Given the description of an element on the screen output the (x, y) to click on. 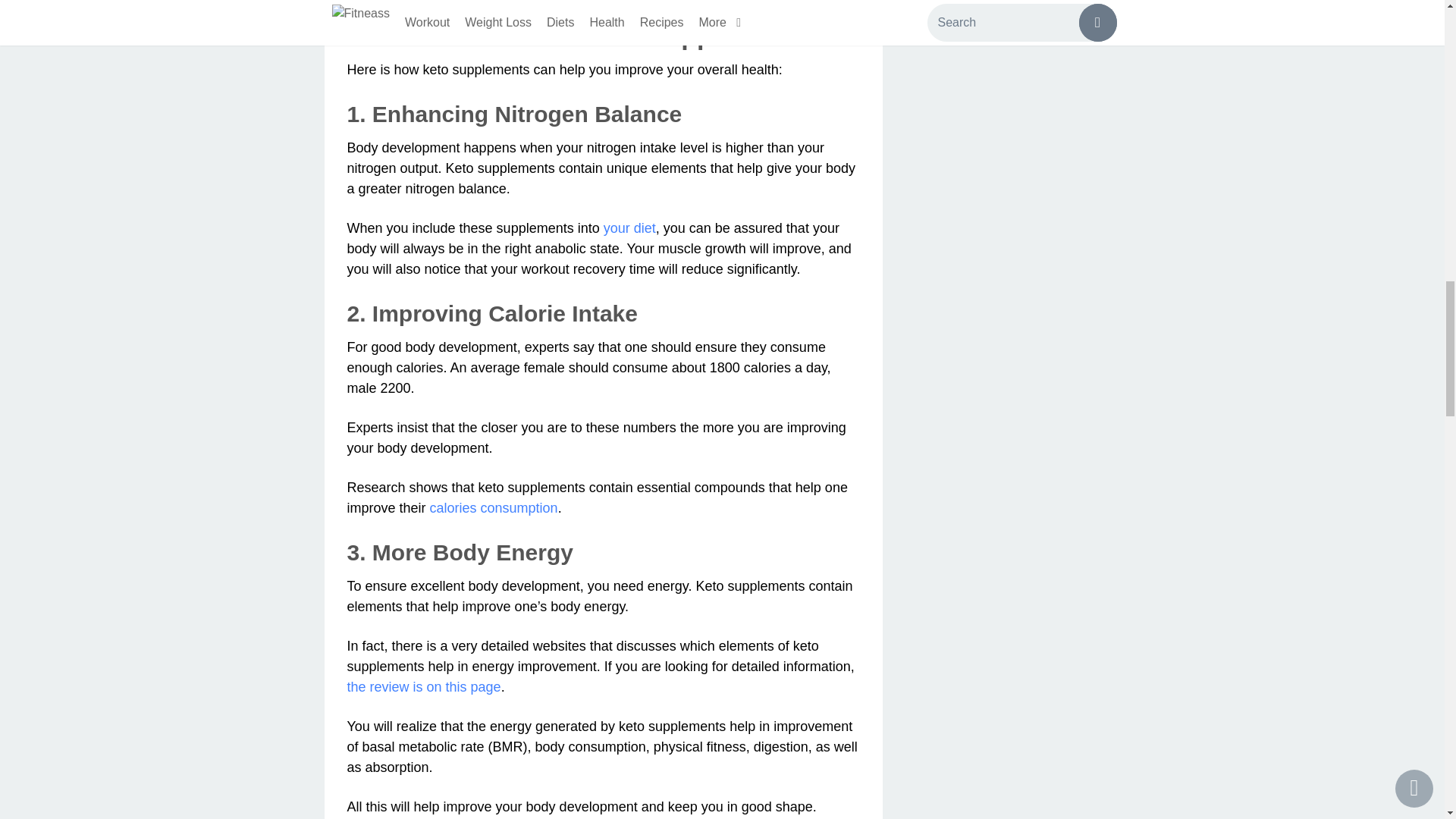
the review is on this page (423, 686)
your diet (630, 227)
calories consumption (493, 507)
